Given the description of an element on the screen output the (x, y) to click on. 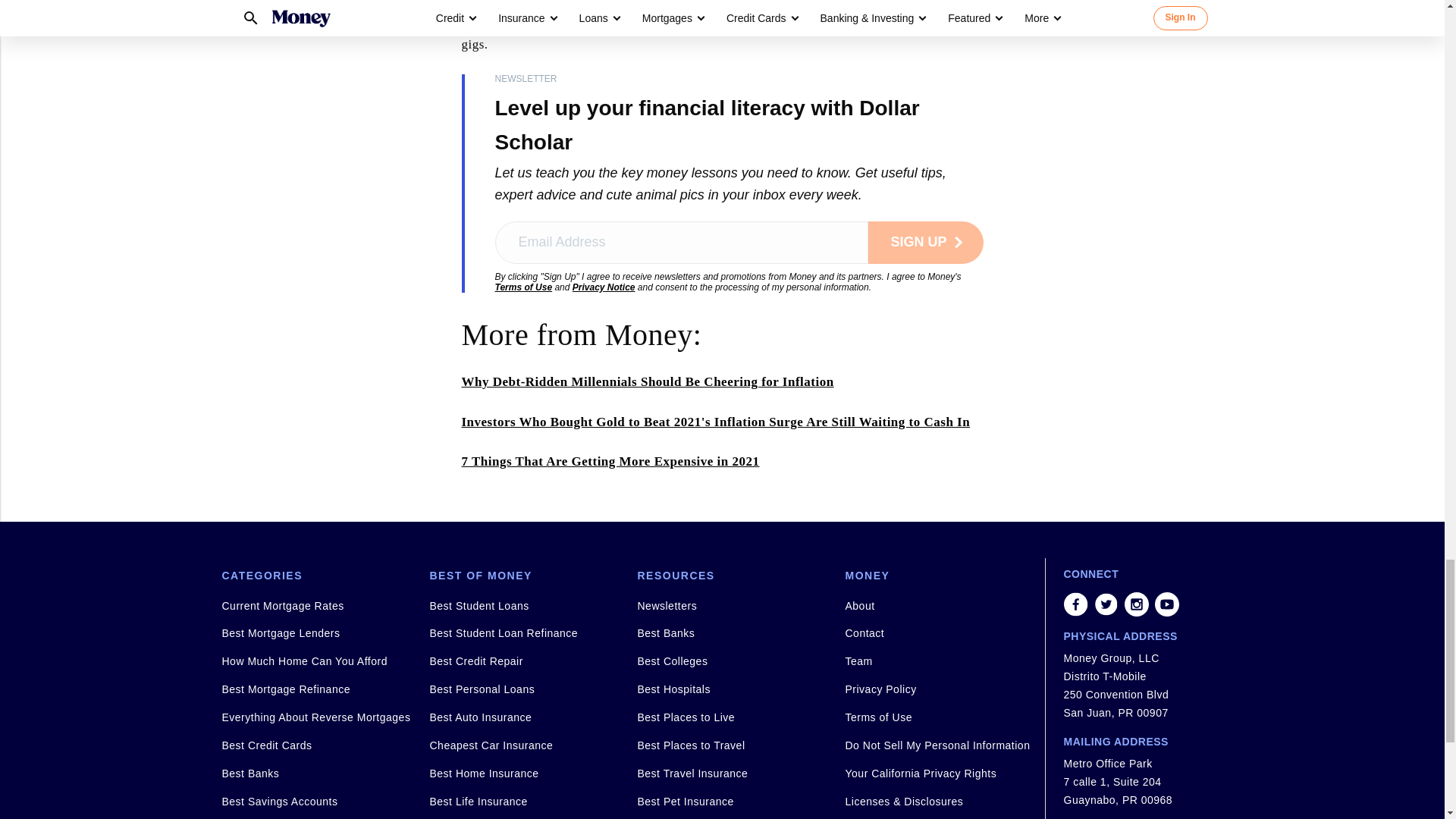
facebook share (1074, 604)
twitter share (1105, 604)
instagram share (1136, 604)
youtube share (1165, 604)
